Given the description of an element on the screen output the (x, y) to click on. 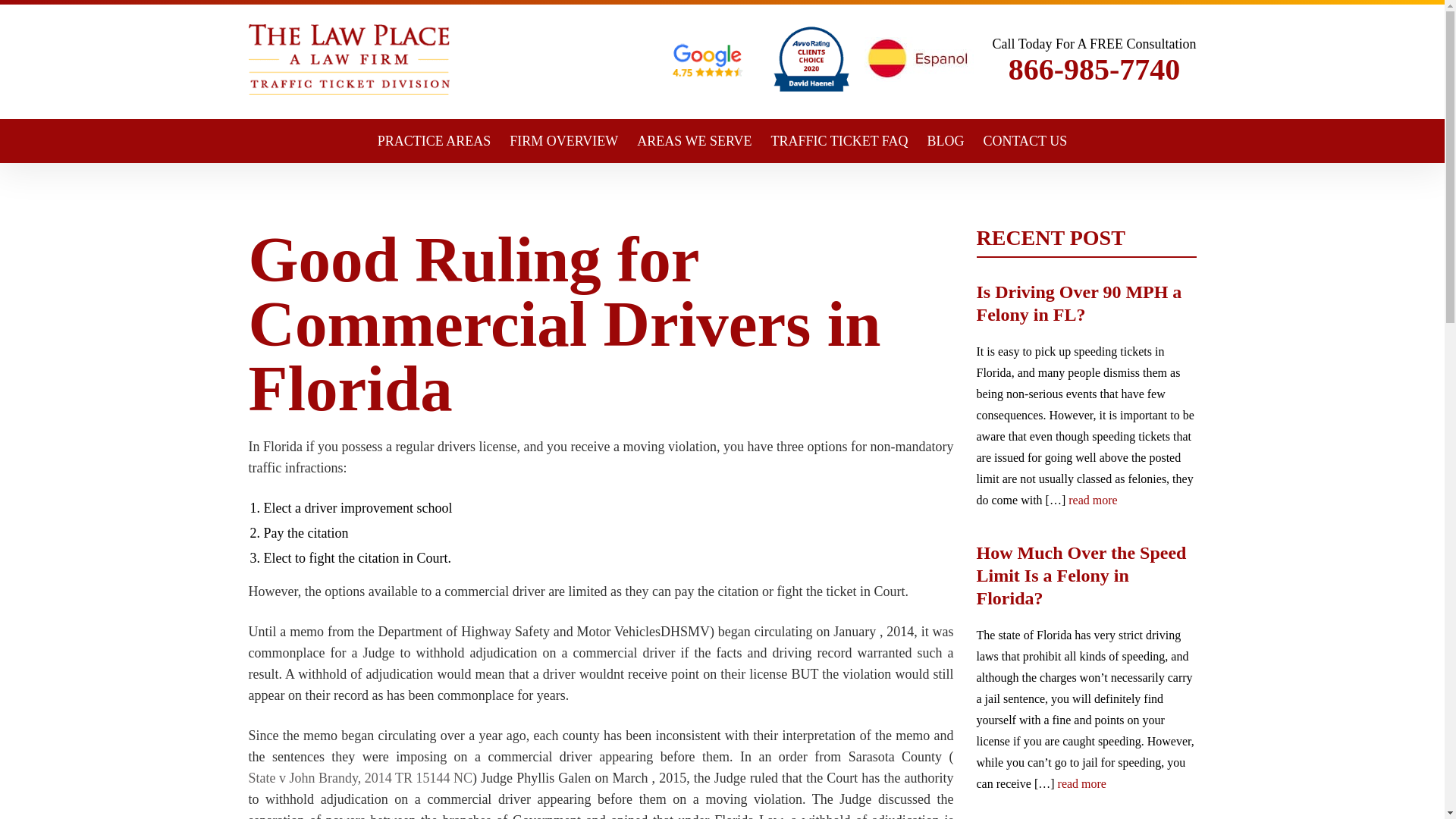
866-985-7740 (1094, 69)
State v John Brandy, 2014 TR 15144 NC (360, 777)
read more (1092, 500)
How Much Over the Speed Limit Is a Felony in Florida? (1086, 575)
BLOG (945, 140)
Is Driving Over 90 MPH a Felony in FL? (1086, 302)
AREAS WE SERVE (694, 140)
PRACTICE AREAS (434, 140)
TRAFFIC TICKET FAQ (839, 140)
FIRM OVERVIEW (563, 140)
